Given the description of an element on the screen output the (x, y) to click on. 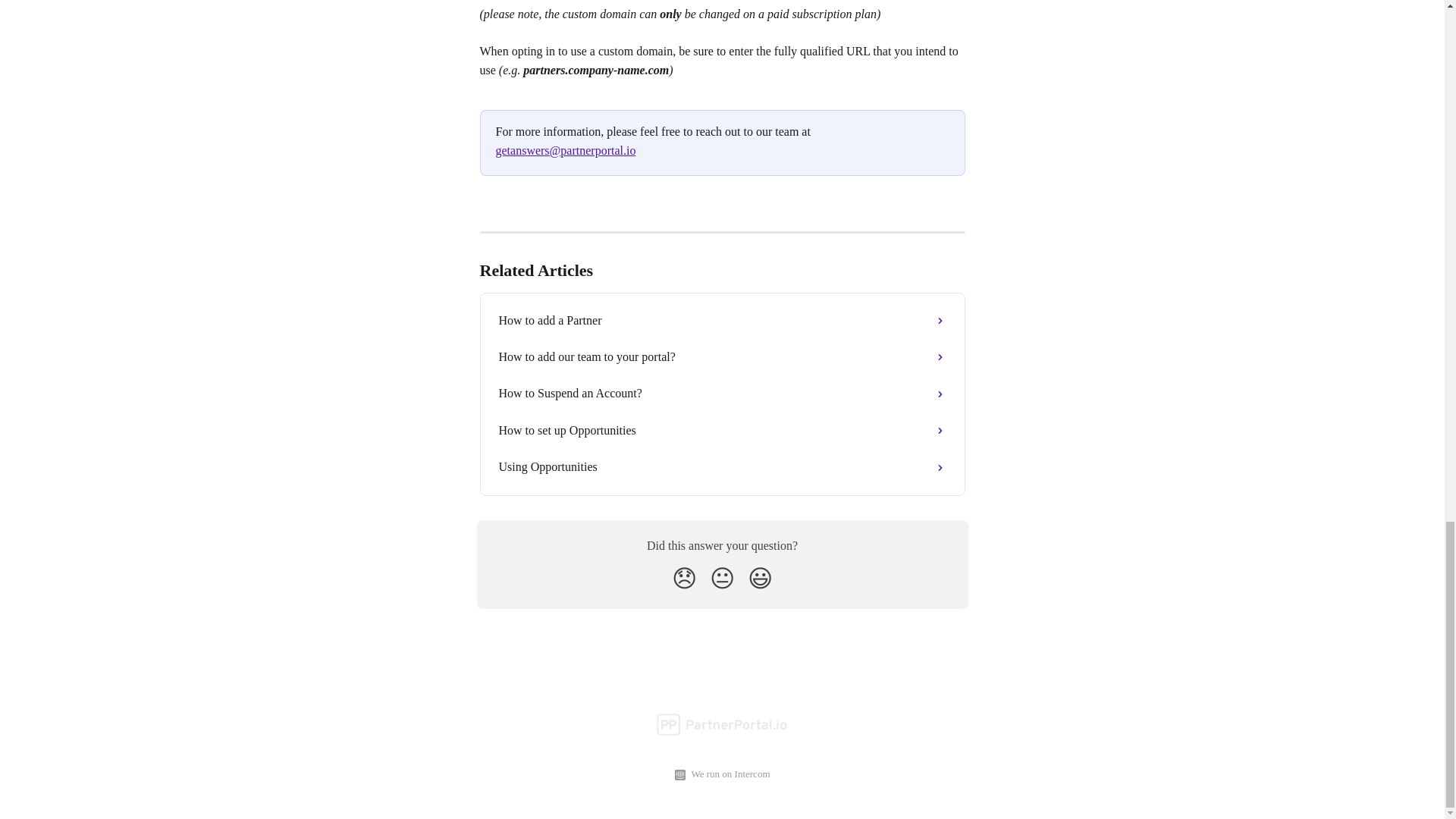
Smiley (760, 578)
How to set up Opportunities (722, 430)
We run on Intercom (727, 774)
Using Opportunities (722, 466)
How to add our team to your portal? (722, 357)
How to Suspend an Account? (722, 393)
Neutral (722, 578)
How to add a Partner (722, 320)
Disappointed (684, 578)
